Given the description of an element on the screen output the (x, y) to click on. 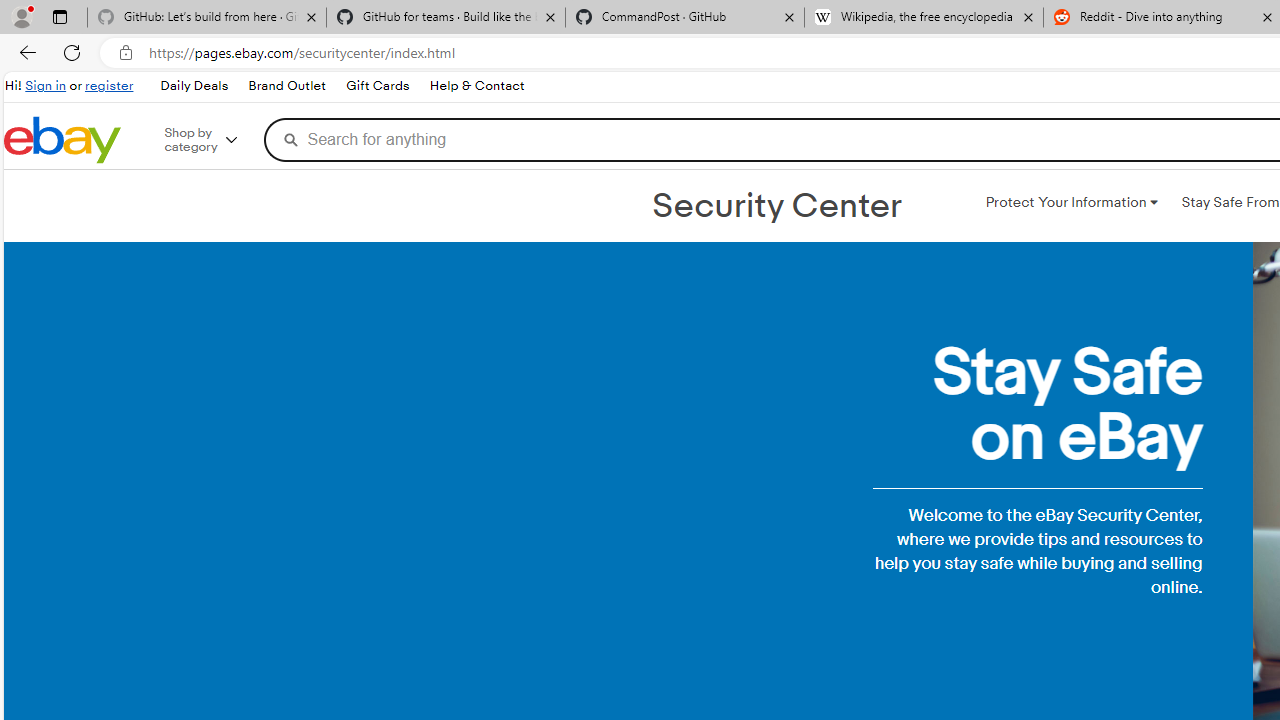
Help & Contact (476, 86)
Gift Cards (377, 86)
Brand Outlet (287, 86)
eBay Home (62, 139)
Protect Your Information  (1071, 202)
Wikipedia, the free encyclopedia (924, 17)
Protect Your Information  (1071, 202)
Shop by category (213, 140)
Help & Contact (475, 85)
register (109, 85)
